Given the description of an element on the screen output the (x, y) to click on. 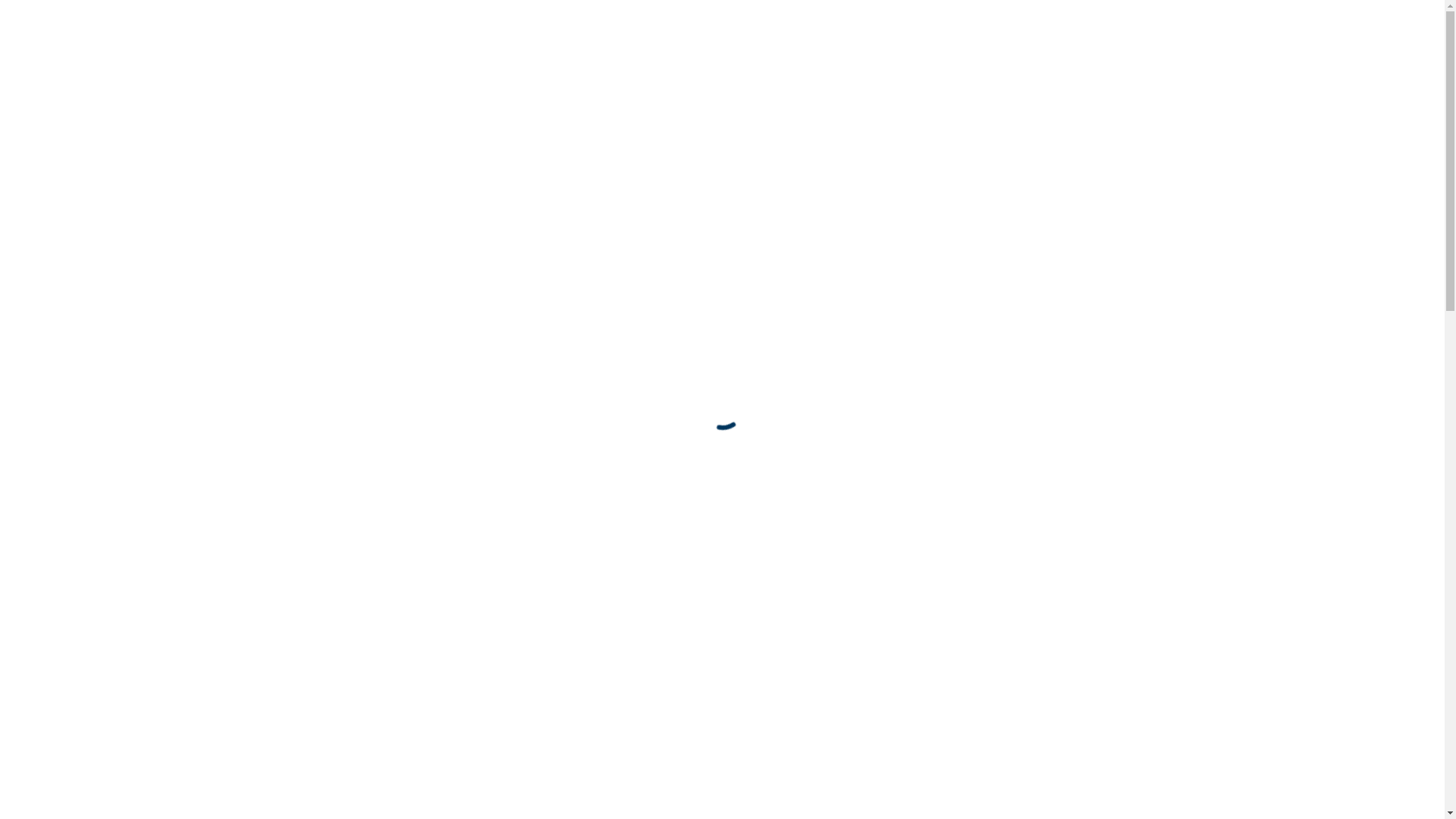
WebDigital.ch Element type: text (772, 774)
Menu Element type: text (1410, 34)
Politique de cookies Element type: text (1187, 792)
Refuser Element type: text (1243, 760)
022 736 87 90 Element type: text (601, 579)
Accepter Element type: text (1127, 760)
Politique de cookies Element type: text (1082, 610)
